Given the description of an element on the screen output the (x, y) to click on. 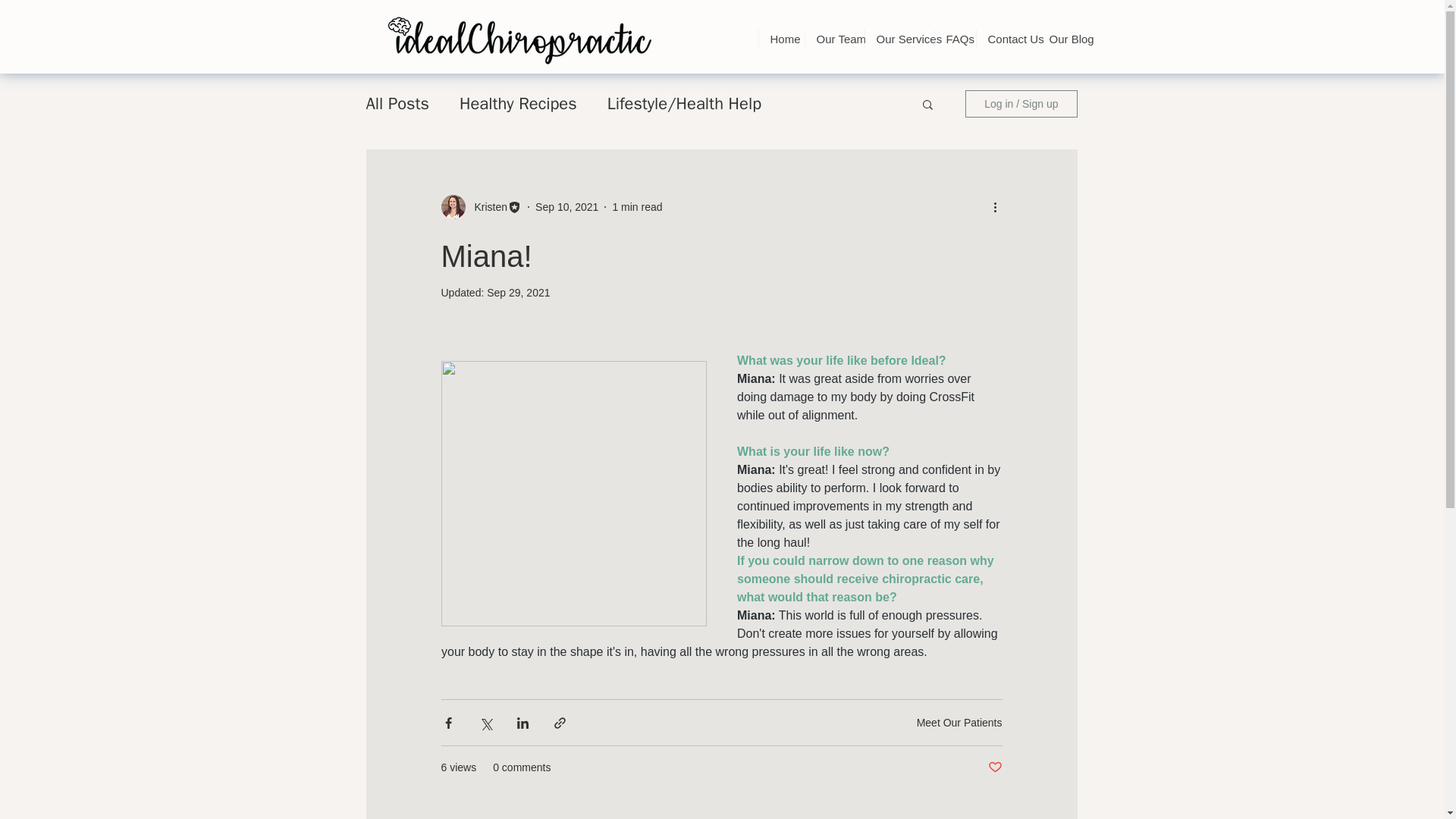
Contact Us (1005, 38)
Kristen (486, 206)
Sep 29, 2021 (518, 292)
1 min read (636, 205)
Home (781, 38)
Meet Our Patients (960, 721)
Screen Shot 2019-08-21 at 1.10.05 PM.png (517, 39)
Sep 10, 2021 (566, 205)
Our Services (899, 38)
Our Blog (1064, 38)
Healthy Recipes (518, 103)
FAQs (954, 38)
Post not marked as liked (994, 767)
All Posts (397, 103)
Our Team (833, 38)
